Given the description of an element on the screen output the (x, y) to click on. 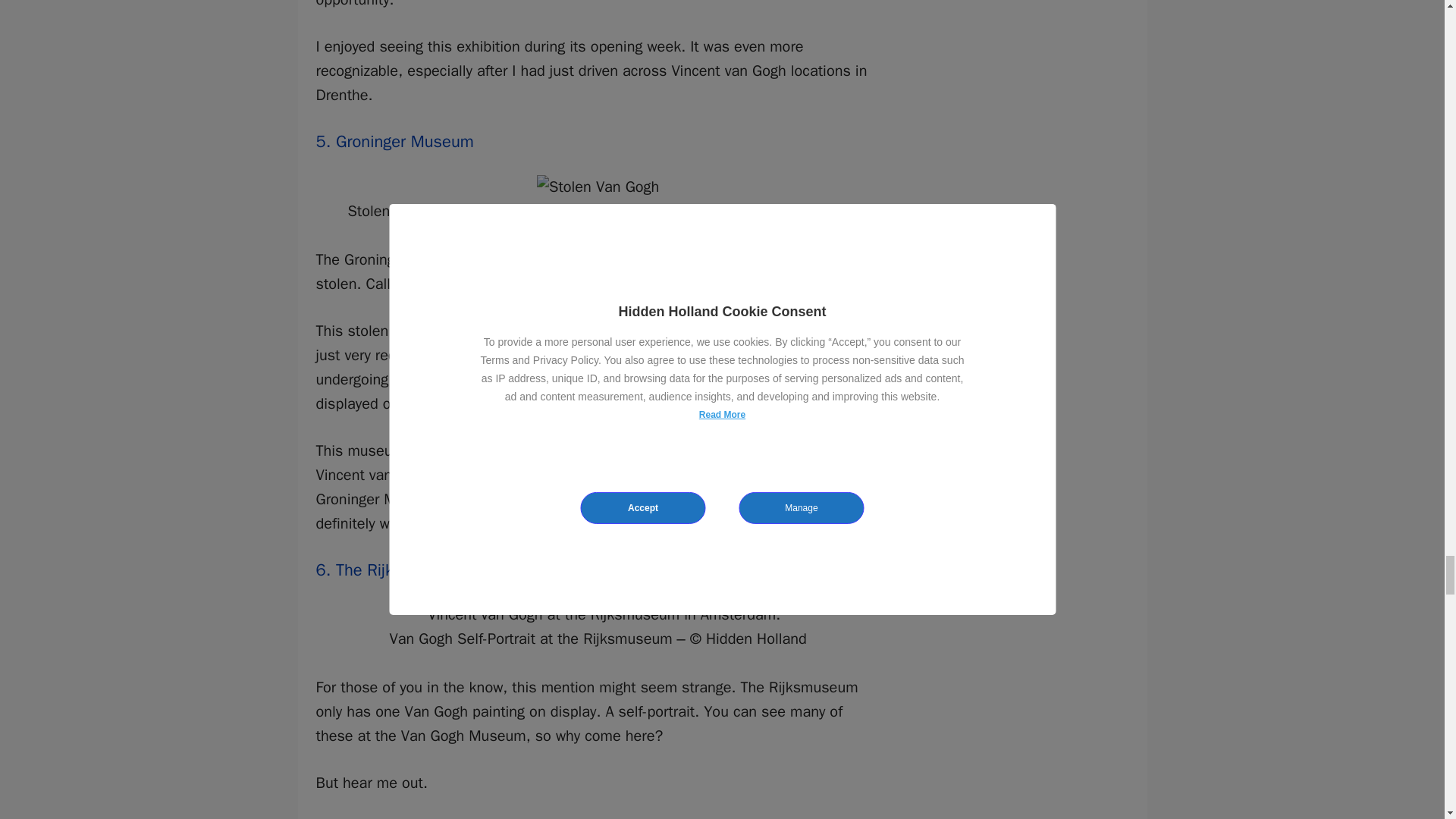
van-gogh-selfportrait-rijksmuseum (597, 614)
van-gogh-the-parsonage-garden-at-nuenen (598, 187)
